Given the description of an element on the screen output the (x, y) to click on. 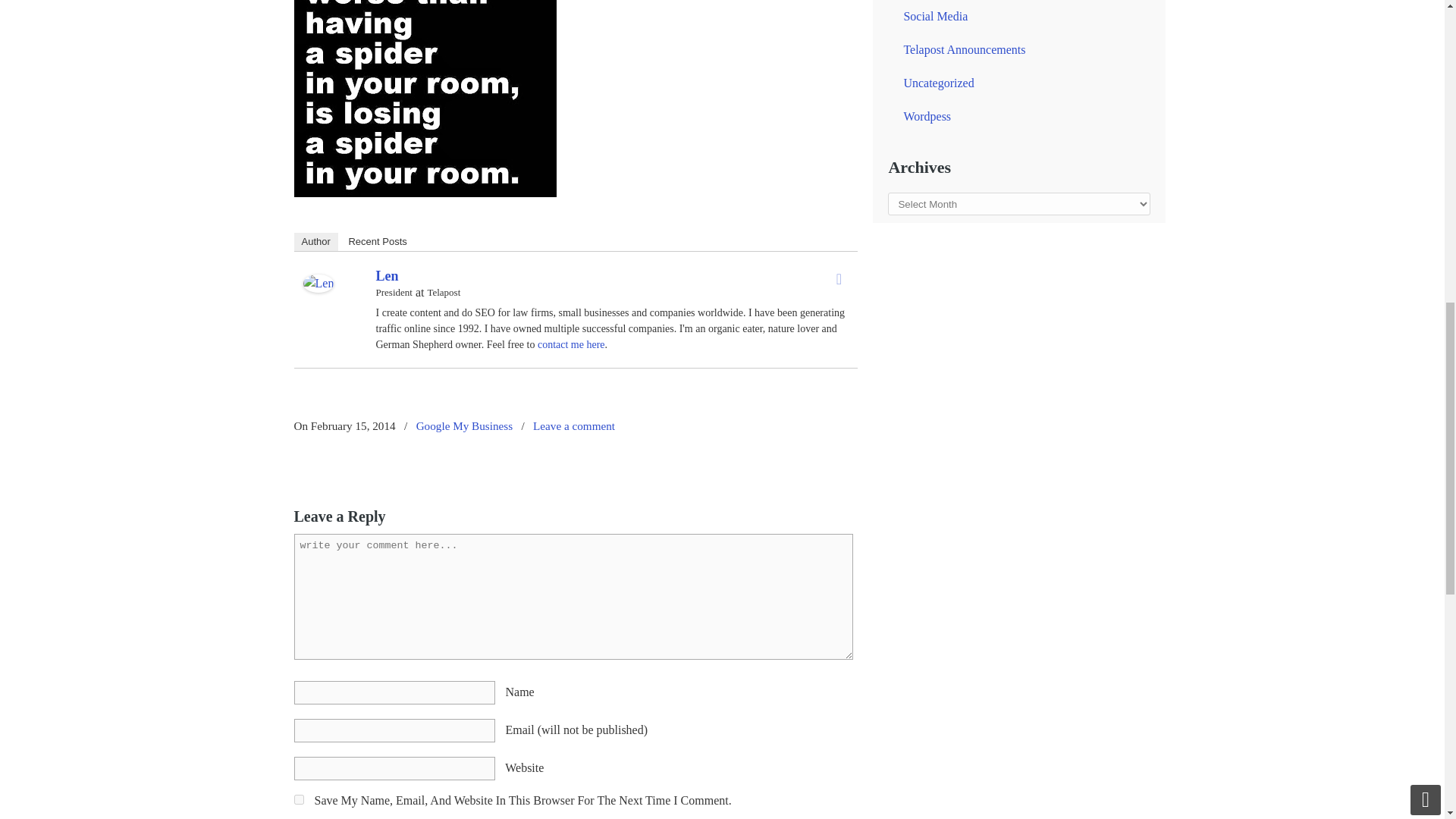
Author (315, 241)
Recent Posts (376, 241)
Google My Business (464, 425)
Twitter (838, 279)
Len (386, 275)
Len (318, 287)
yes (299, 799)
contact me here (571, 344)
Leave a comment (573, 425)
